Given the description of an element on the screen output the (x, y) to click on. 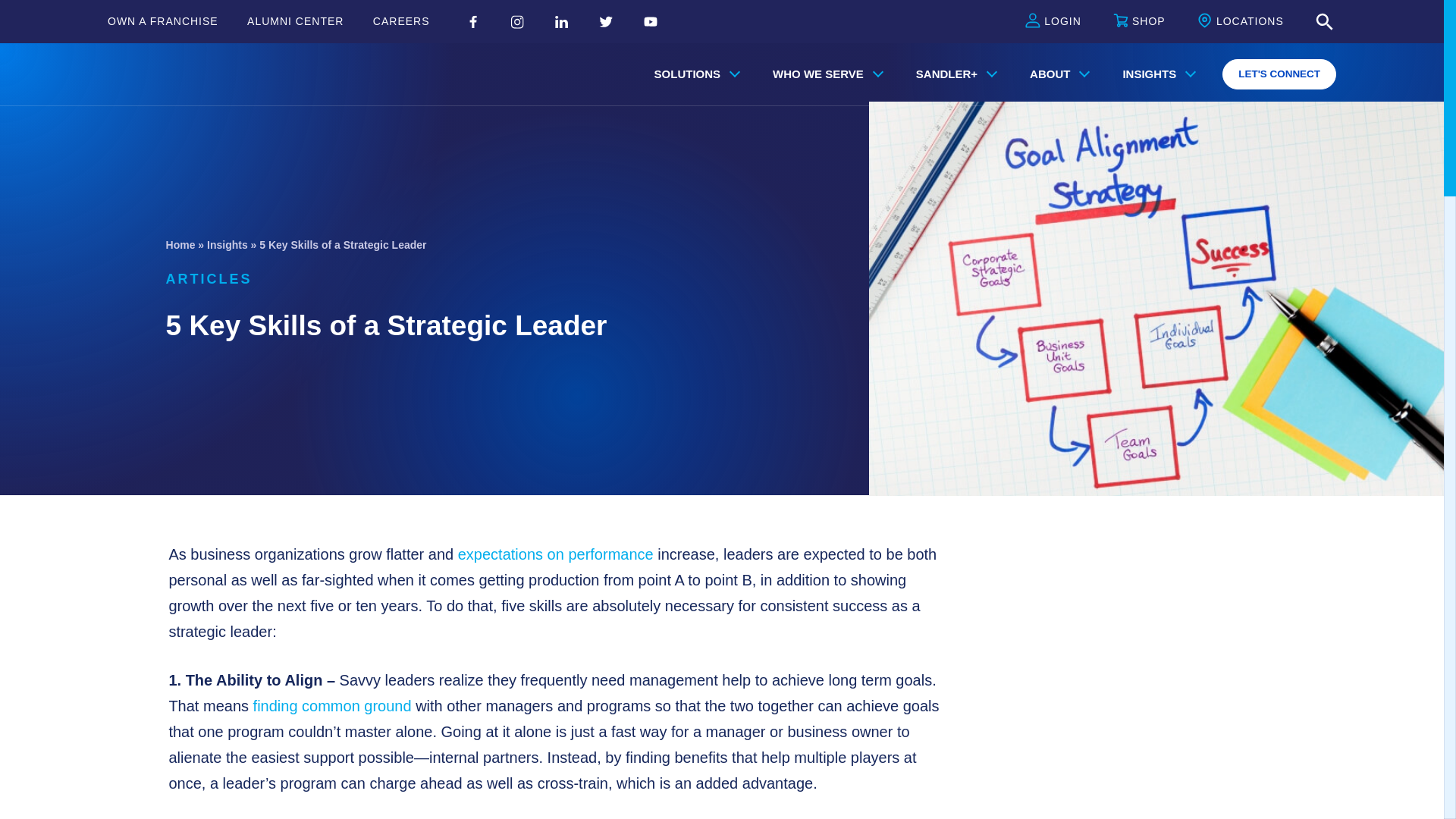
SHOP (1139, 22)
OWN A FRANCHISE (162, 21)
LOCATIONS (1240, 22)
ALUMNI CENTER (295, 21)
LOGIN (1053, 22)
Open Search (1324, 21)
CAREERS (400, 21)
WHO WE SERVE (824, 73)
SOLUTIONS (694, 73)
